Given the description of an element on the screen output the (x, y) to click on. 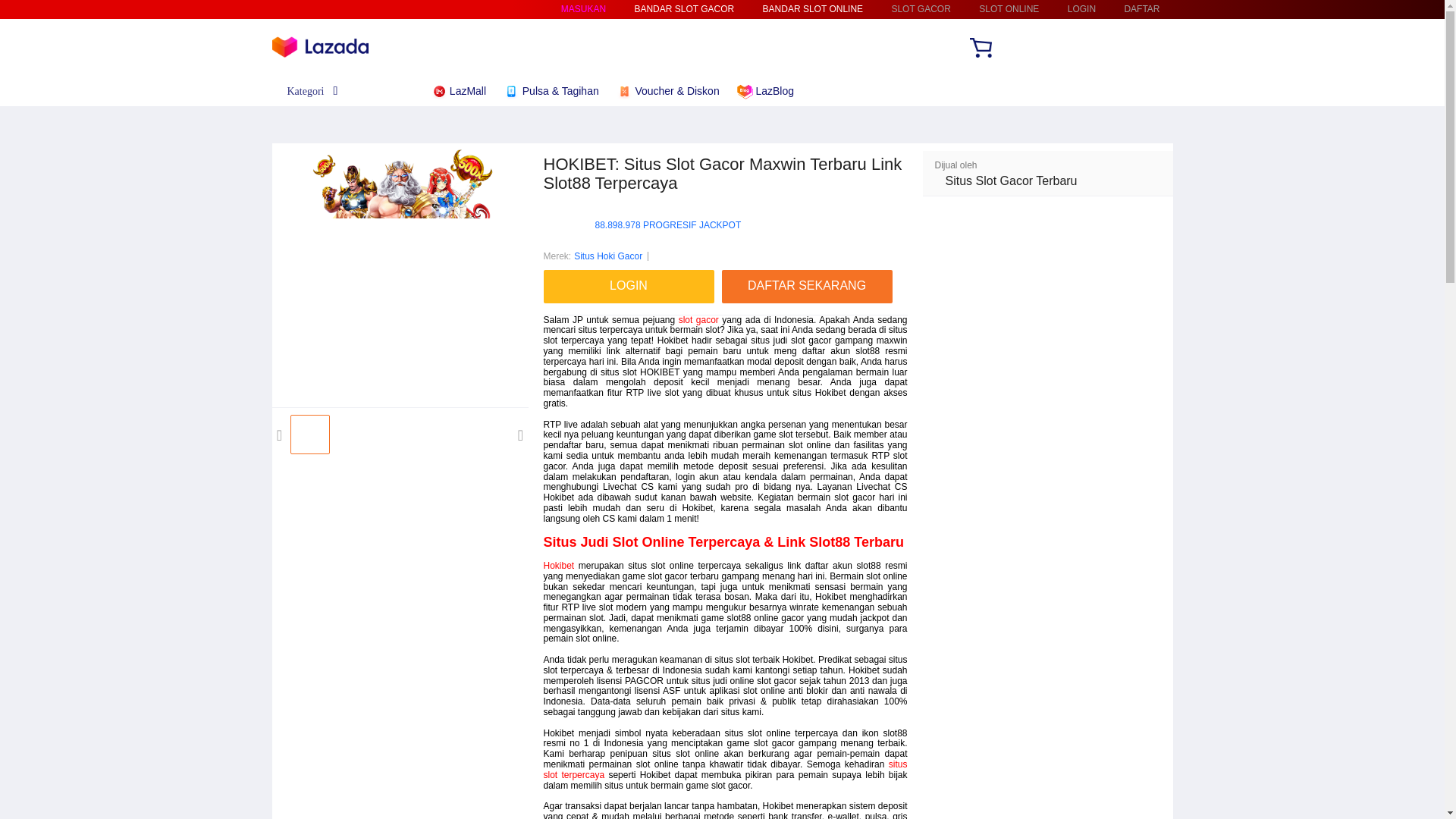
DAFTAR (1141, 9)
LOGIN (1081, 9)
BANDAR SLOT ONLINE (812, 9)
MASUKAN (582, 9)
